Given the description of an element on the screen output the (x, y) to click on. 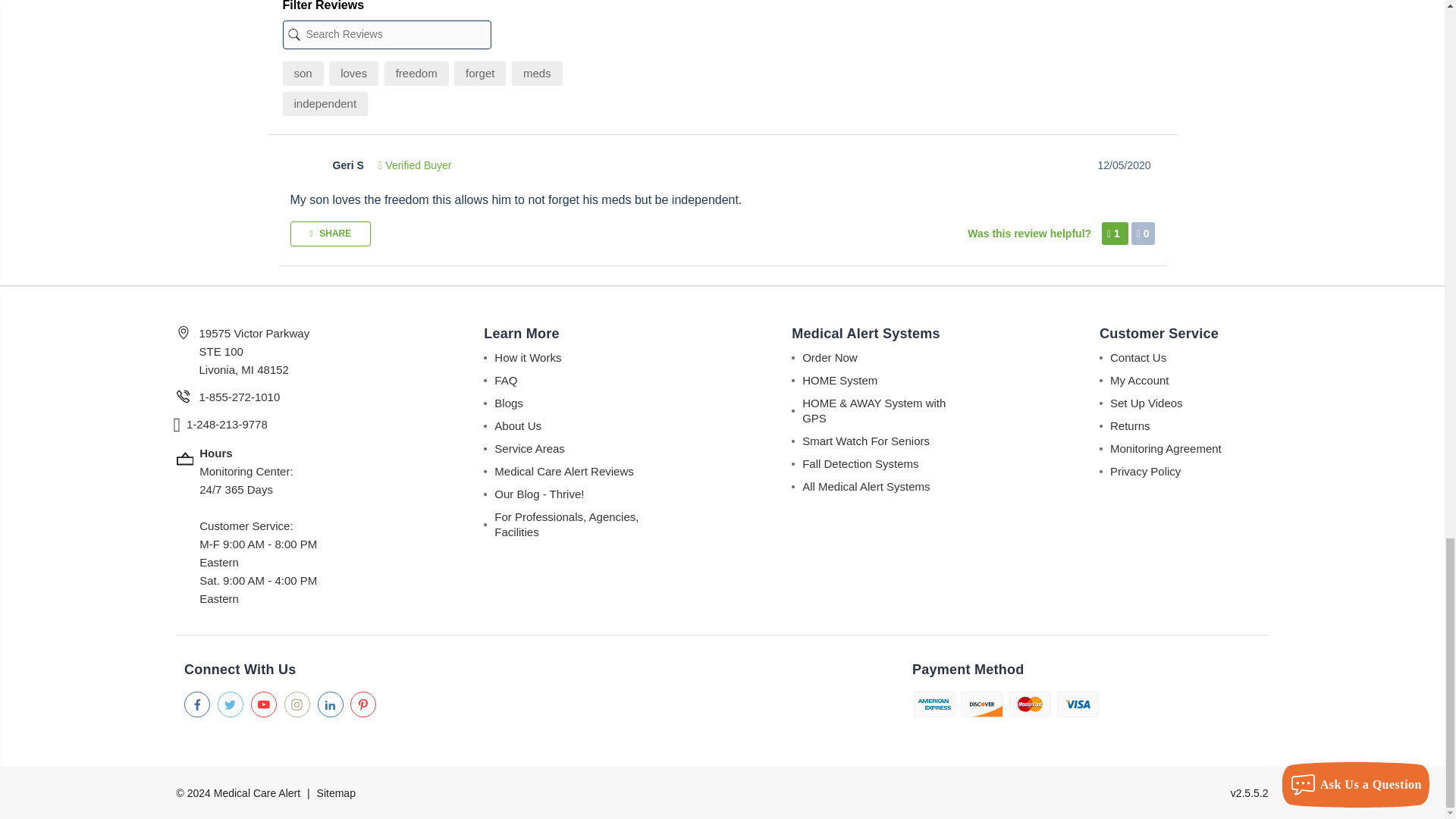
5 stars (303, 164)
